Given the description of an element on the screen output the (x, y) to click on. 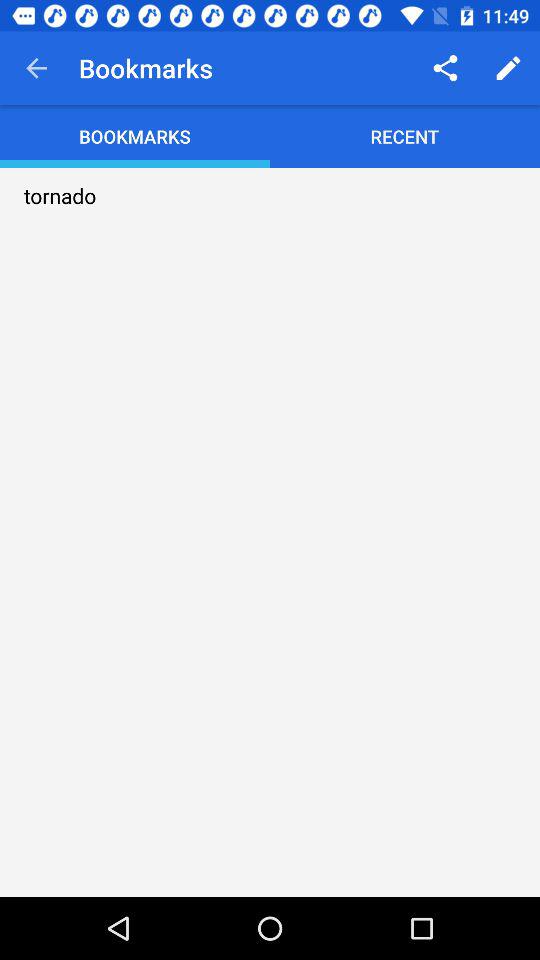
open the item above the tornado (36, 68)
